Given the description of an element on the screen output the (x, y) to click on. 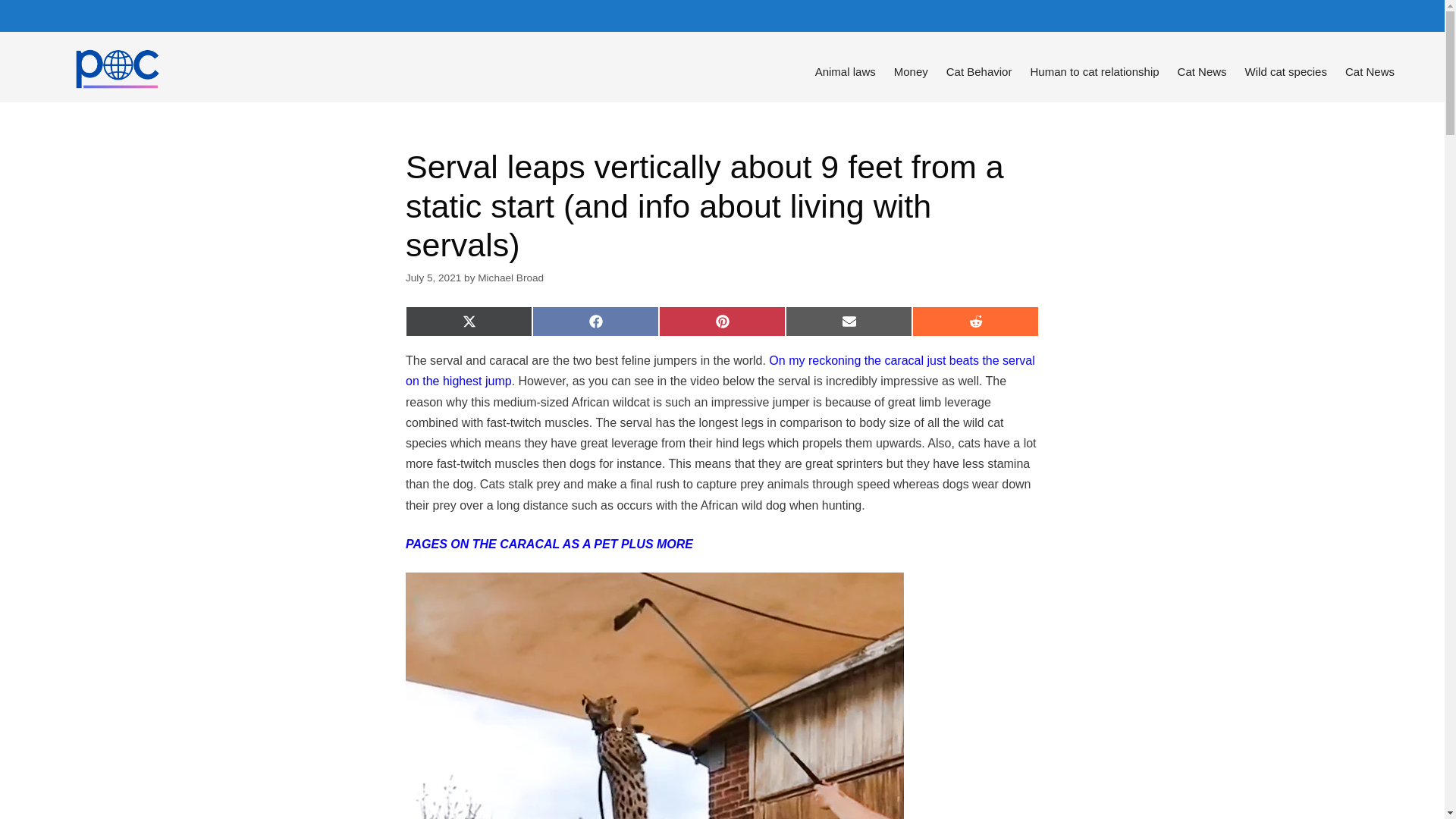
Cat News (1369, 72)
Share on Facebook (595, 321)
Human to cat relationship (1093, 72)
Cat News (1202, 72)
Money (911, 72)
Michael Broad (510, 277)
Cat Behavior (979, 72)
Wild cat species (1286, 72)
View all posts by Michael Broad (510, 277)
